Given the description of an element on the screen output the (x, y) to click on. 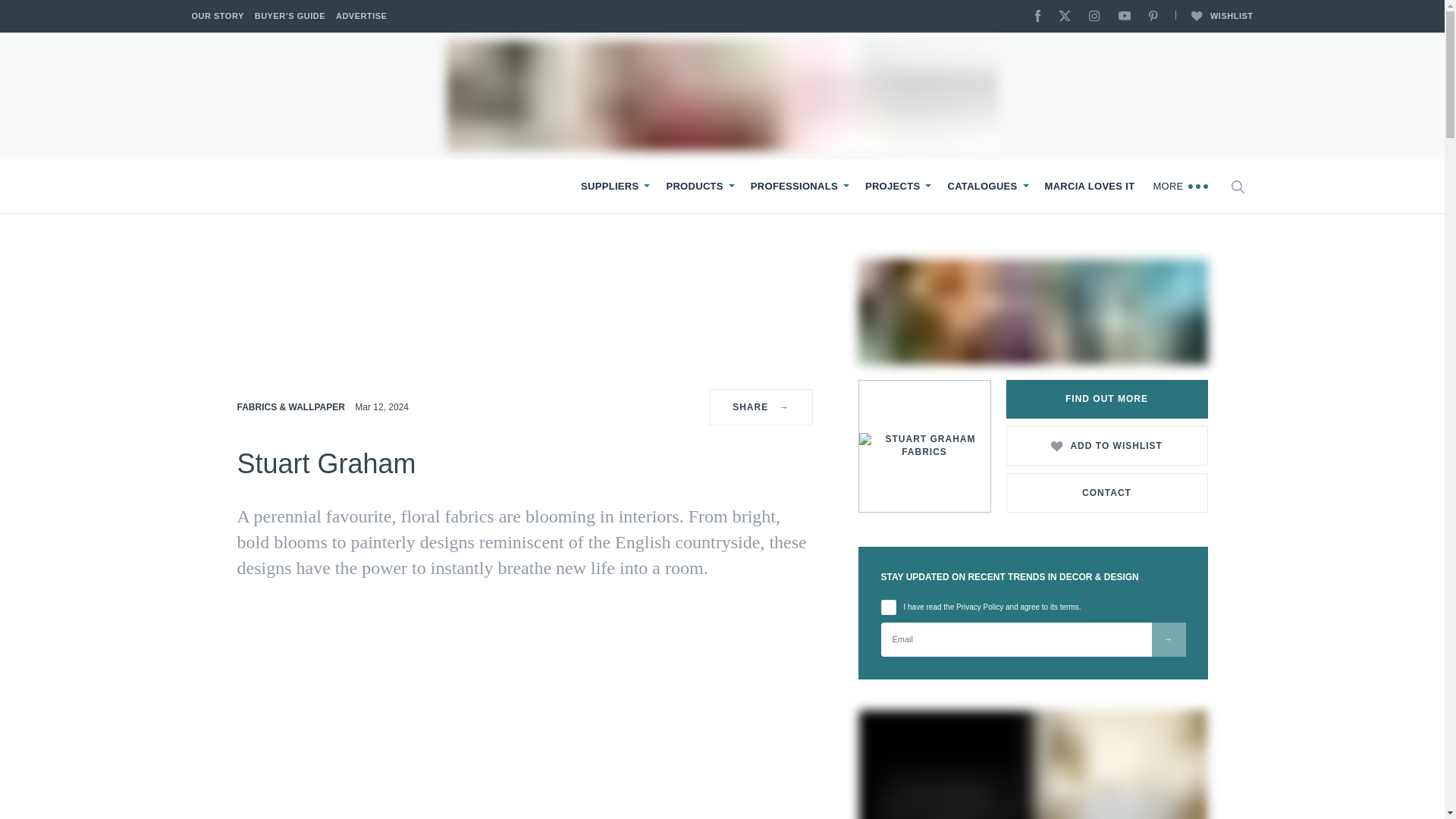
Logo (255, 186)
OUR STORY (216, 16)
ADVERTISE (361, 16)
SUPPLIERS (609, 186)
WISHLIST (1213, 16)
